Given the description of an element on the screen output the (x, y) to click on. 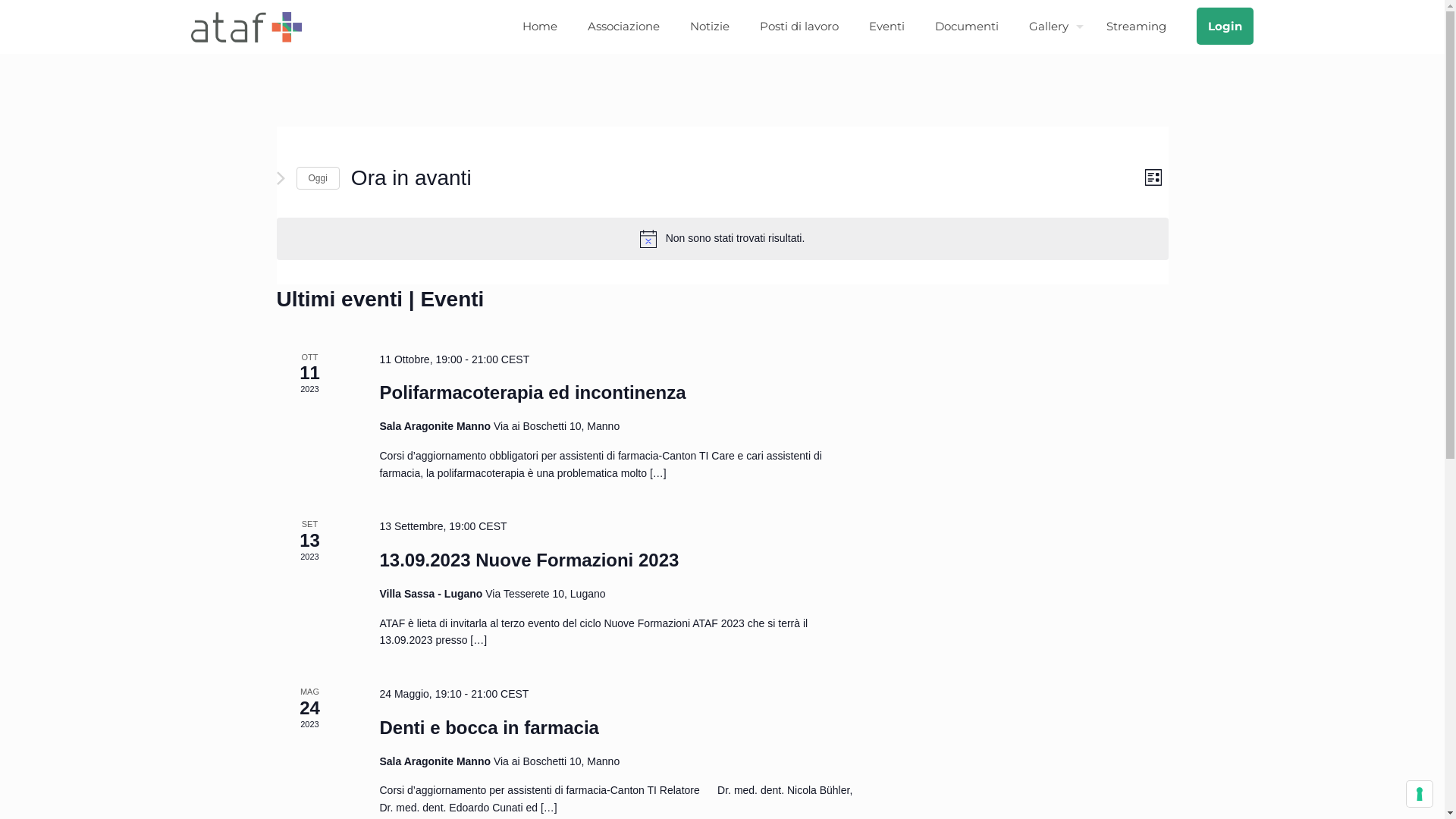
Gallery Element type: text (1052, 26)
Documenti Element type: text (966, 26)
Associazione Element type: text (623, 26)
Notizie Element type: text (709, 26)
Streaming Element type: text (1136, 26)
Home Element type: text (539, 26)
Denti e bocca in farmacia Element type: text (488, 727)
Posti di lavoro Element type: text (798, 26)
Associazione ATAF Element type: hover (246, 26)
Ora in avanti Element type: text (411, 178)
13.09.2023 Nuove Formazioni 2023 Element type: text (528, 560)
Le tue preferenze per le tecnologie di tracciamento Element type: hover (1419, 793)
Login Element type: text (1224, 26)
Eventi Element type: text (886, 26)
Oggi Element type: text (316, 178)
Polifarmacoterapia ed incontinenza Element type: text (532, 392)
Prossimo Eventi Element type: hover (280, 178)
Elenco Element type: text (1153, 177)
